Given the description of an element on the screen output the (x, y) to click on. 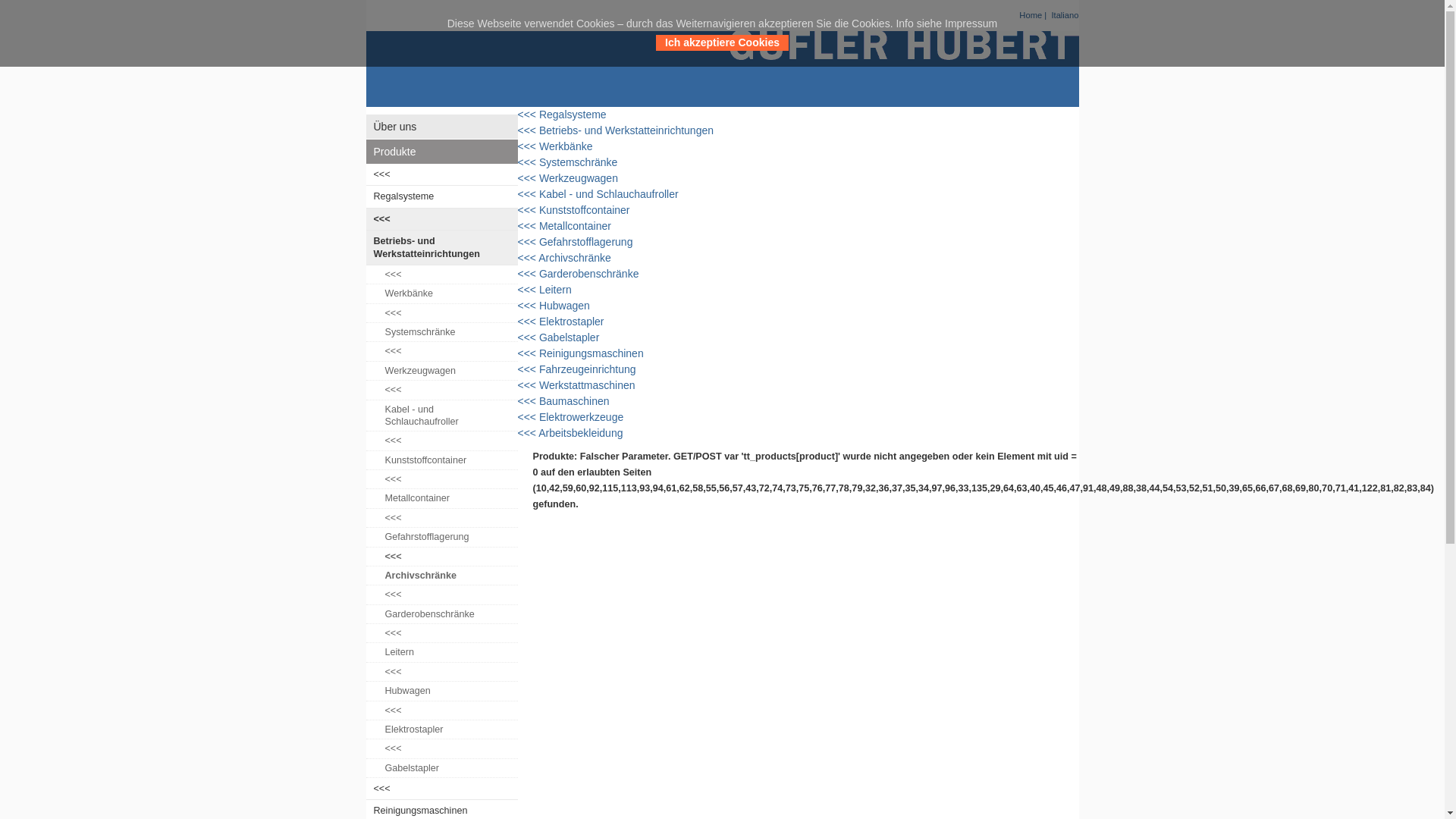
<<< Element type: text (527, 146)
Arbeitsbekleidung Element type: text (580, 432)
<<< Element type: text (527, 257)
<<< Element type: text (527, 401)
Regalsysteme Element type: text (441, 196)
<<< Element type: text (527, 305)
<<< Element type: text (441, 351)
<<< Element type: text (527, 130)
Fahrzeugeinrichtung Element type: text (587, 369)
<<< Element type: text (441, 219)
<<< Element type: text (441, 633)
Kunststoffcontainer Element type: text (441, 460)
<<< Element type: text (527, 178)
<<< Element type: text (441, 748)
Betriebs- und Werkstatteinrichtungen Element type: text (441, 247)
Italiano Element type: text (1064, 14)
Metallcontainer Element type: text (575, 225)
Hubwagen Element type: text (564, 305)
Metallcontainer Element type: text (441, 498)
Werkzeugwagen Element type: text (441, 370)
<<< Element type: text (527, 114)
<<< Element type: text (441, 174)
Elektrostapler Element type: text (571, 321)
Baumaschinen Element type: text (574, 401)
Hubwagen Element type: text (441, 690)
<<< Element type: text (527, 337)
Elektrostapler Element type: text (441, 729)
<<< Element type: text (441, 440)
Produkte Element type: text (441, 151)
<<< Element type: text (527, 432)
<<< Element type: text (527, 353)
Kabel - und Schlauchaufroller Element type: text (608, 194)
<<< Element type: text (441, 671)
Gabelstapler Element type: text (569, 337)
<<< Element type: text (527, 289)
Betriebs- und Werkstatteinrichtungen Element type: text (626, 130)
<<< Element type: text (527, 209)
<<< Element type: text (527, 417)
Leitern Element type: text (555, 289)
<<< Element type: text (441, 389)
<<< Element type: text (527, 241)
<<< Element type: text (441, 709)
<<< Element type: text (527, 194)
<<< Element type: text (441, 517)
Leitern Element type: text (441, 652)
Elektrowerkzeuge Element type: text (581, 417)
<<< Element type: text (527, 225)
<<< Element type: text (441, 479)
Regalsysteme Element type: text (572, 114)
<<< Element type: text (441, 313)
Gefahrstofflagerung Element type: text (586, 241)
Werkstattmaschinen Element type: text (587, 385)
Home |  Element type: text (1033, 14)
<<< Element type: text (441, 594)
Gabelstapler Element type: text (441, 768)
<<< Element type: text (527, 162)
<<< Element type: text (527, 385)
Werkzeugwagen Element type: text (578, 178)
<<< Element type: text (441, 556)
Kunststoffcontainer Element type: text (584, 209)
<<< Element type: text (527, 369)
Kabel - und Schlauchaufroller Element type: text (441, 416)
<<< Element type: text (527, 321)
<<< Element type: text (441, 789)
<<< Element type: text (527, 273)
Reinigungsmaschinen Element type: text (591, 353)
<<< Element type: text (441, 274)
   Ich akzeptiere Cookies    Element type: text (826, 51)
Gefahrstofflagerung Element type: text (441, 536)
